Given the description of an element on the screen output the (x, y) to click on. 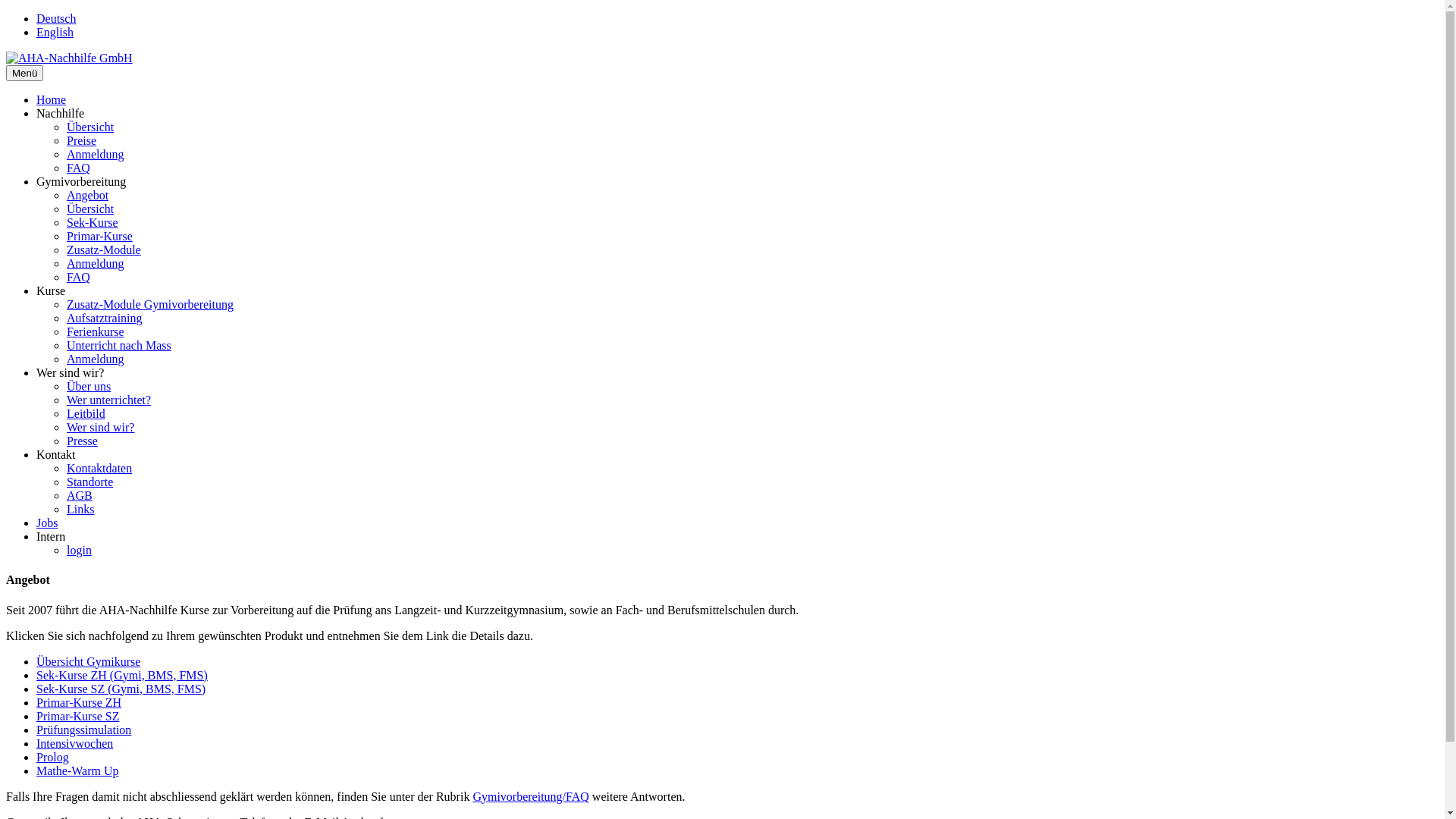
Unterricht nach Mass Element type: text (118, 344)
Wer sind wir? Element type: text (100, 426)
English Element type: text (54, 31)
login Element type: text (78, 549)
Sek-Kurse ZH (Gymi, BMS, FMS) Element type: text (121, 674)
Links Element type: text (80, 508)
Wer unterrichtet? Element type: text (108, 399)
Prolog Element type: text (52, 756)
Home Element type: text (50, 99)
Intensivwochen Element type: text (74, 743)
Preise Element type: text (81, 140)
Primar-Kurse SZ Element type: text (77, 715)
Standorte Element type: text (89, 481)
Aufsatztraining Element type: text (104, 317)
Anmeldung Element type: text (95, 153)
AGB Element type: text (79, 495)
Sek-Kurse Element type: text (92, 222)
Anmeldung Element type: text (95, 263)
Presse Element type: text (81, 440)
FAQ Element type: text (78, 276)
Primar-Kurse ZH Element type: text (78, 702)
Zusatz-Module Element type: text (103, 249)
Leitbild Element type: text (85, 413)
Ferienkurse Element type: text (95, 331)
Jobs Element type: text (46, 522)
Kontaktdaten Element type: text (98, 467)
FAQ Element type: text (78, 167)
Zusatz-Module Gymivorbereitung Element type: text (149, 304)
Primar-Kurse Element type: text (99, 235)
Gymivorbereitung/FAQ Element type: text (530, 796)
Angebot Element type: text (87, 194)
Mathe-Warm Up Element type: text (77, 770)
Sek-Kurse SZ (Gymi, BMS, FMS) Element type: text (120, 688)
Deutsch Element type: text (55, 18)
Anmeldung Element type: text (95, 358)
